Given the description of an element on the screen output the (x, y) to click on. 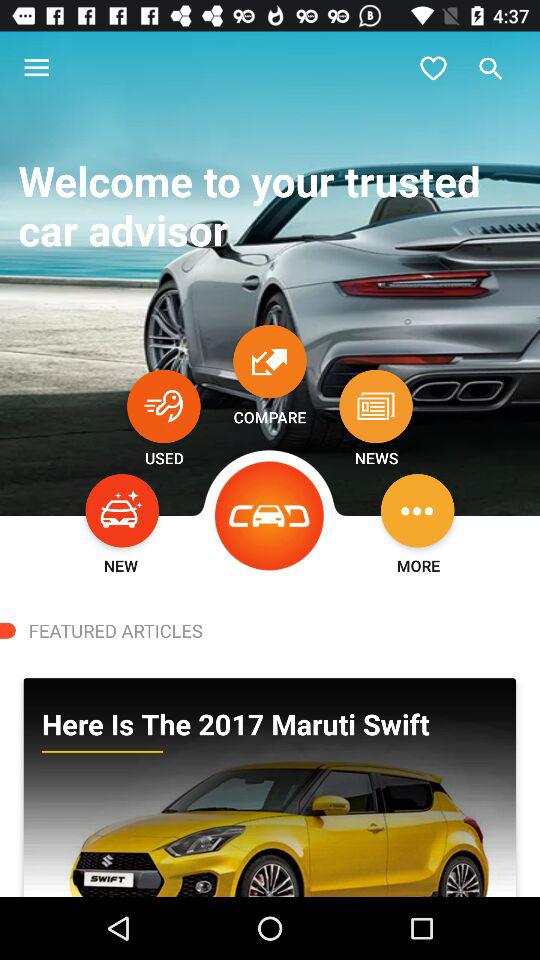
go back (269, 515)
